Given the description of an element on the screen output the (x, y) to click on. 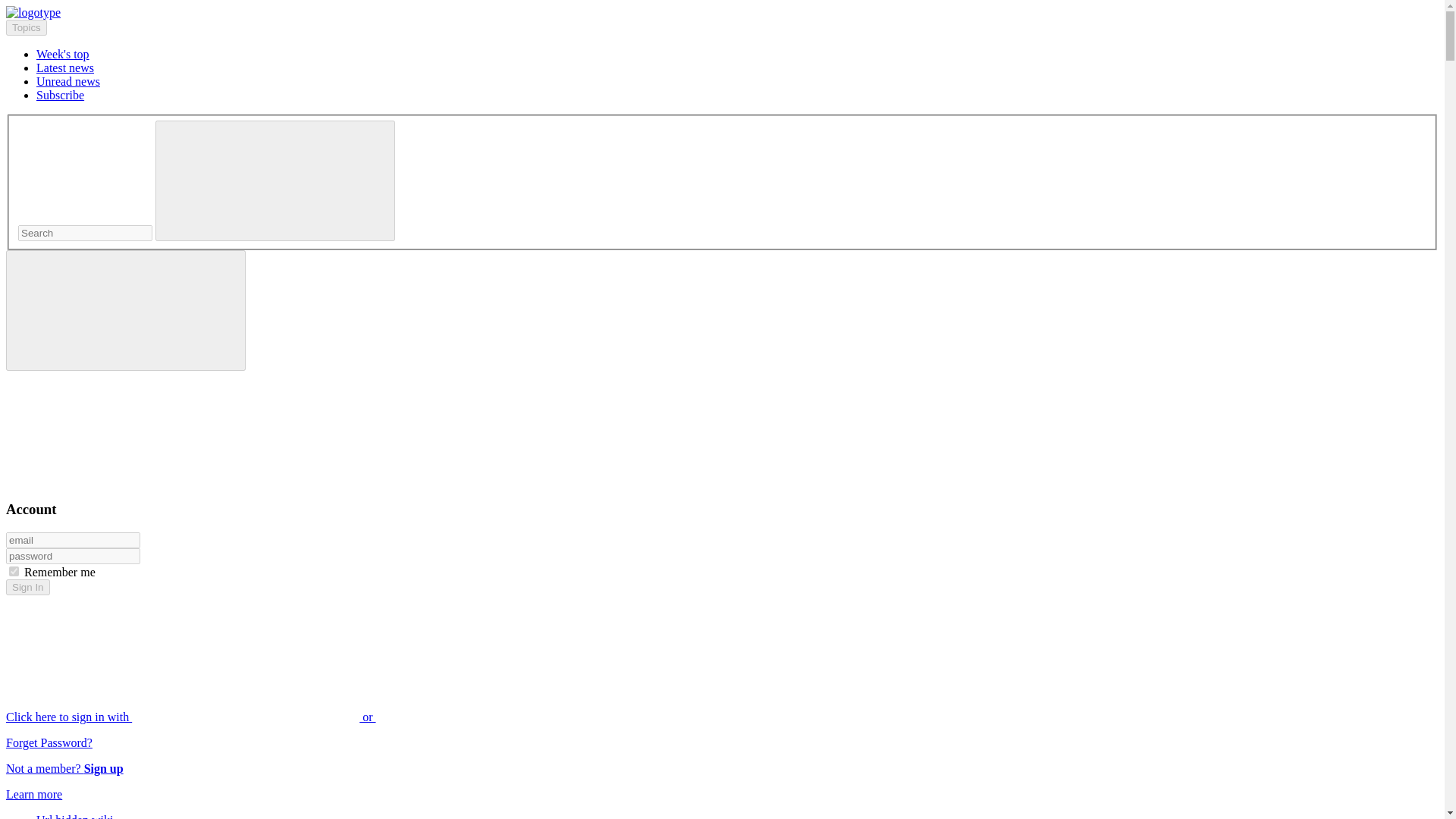
Topics (25, 27)
Subscribe (60, 94)
Learn more (33, 793)
Forget Password? (49, 742)
Sign In (27, 587)
Unread news (68, 81)
Url hidden wiki (74, 816)
Not a member? Sign up (64, 768)
Click here to sign in with or (304, 716)
Url hidden wiki (74, 816)
